Given the description of an element on the screen output the (x, y) to click on. 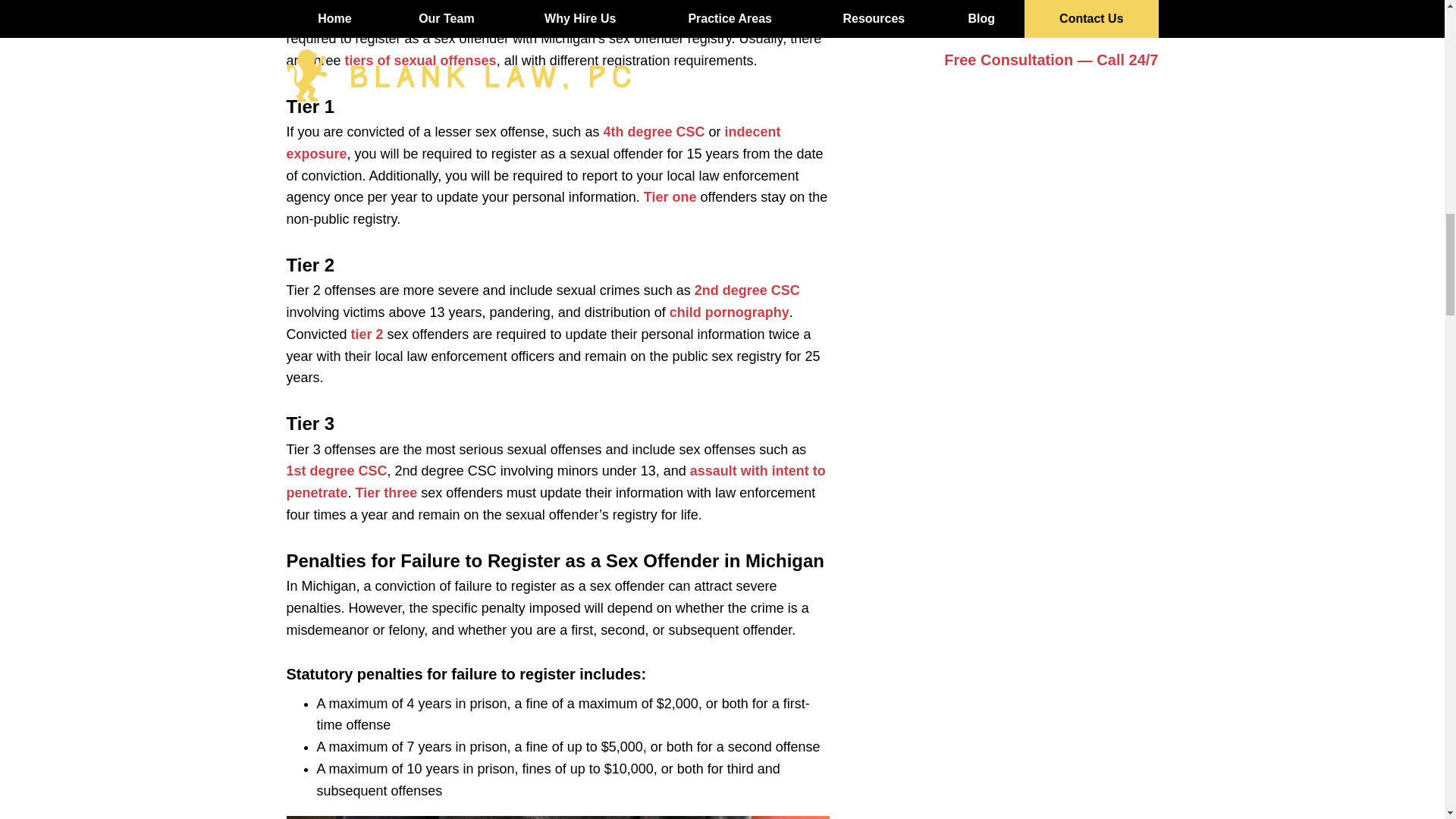
tiers of sexual offenses (420, 60)
